Given the description of an element on the screen output the (x, y) to click on. 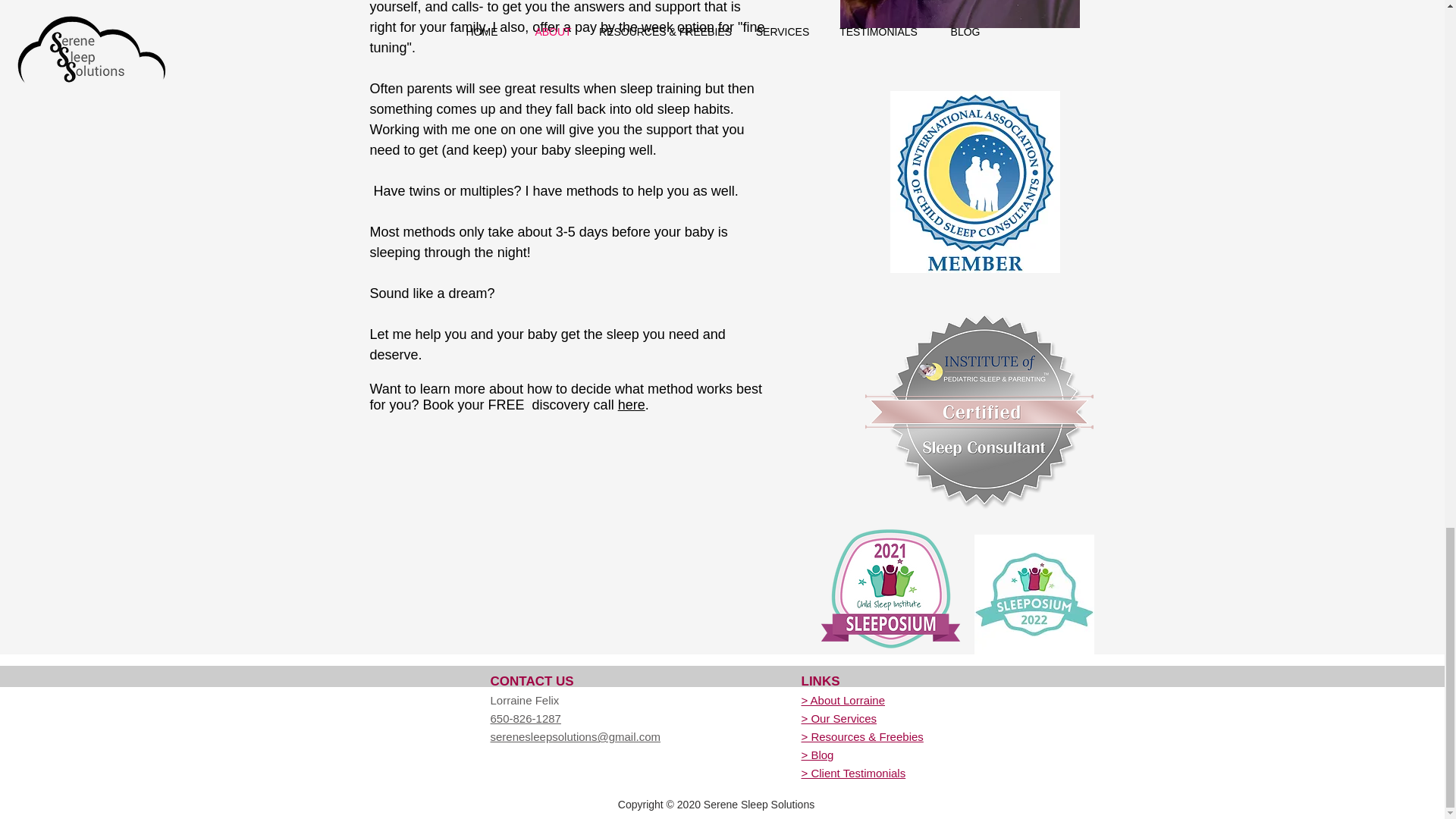
650-826-1287 (524, 717)
here (631, 404)
Member-01.jpg (974, 181)
